Given the description of an element on the screen output the (x, y) to click on. 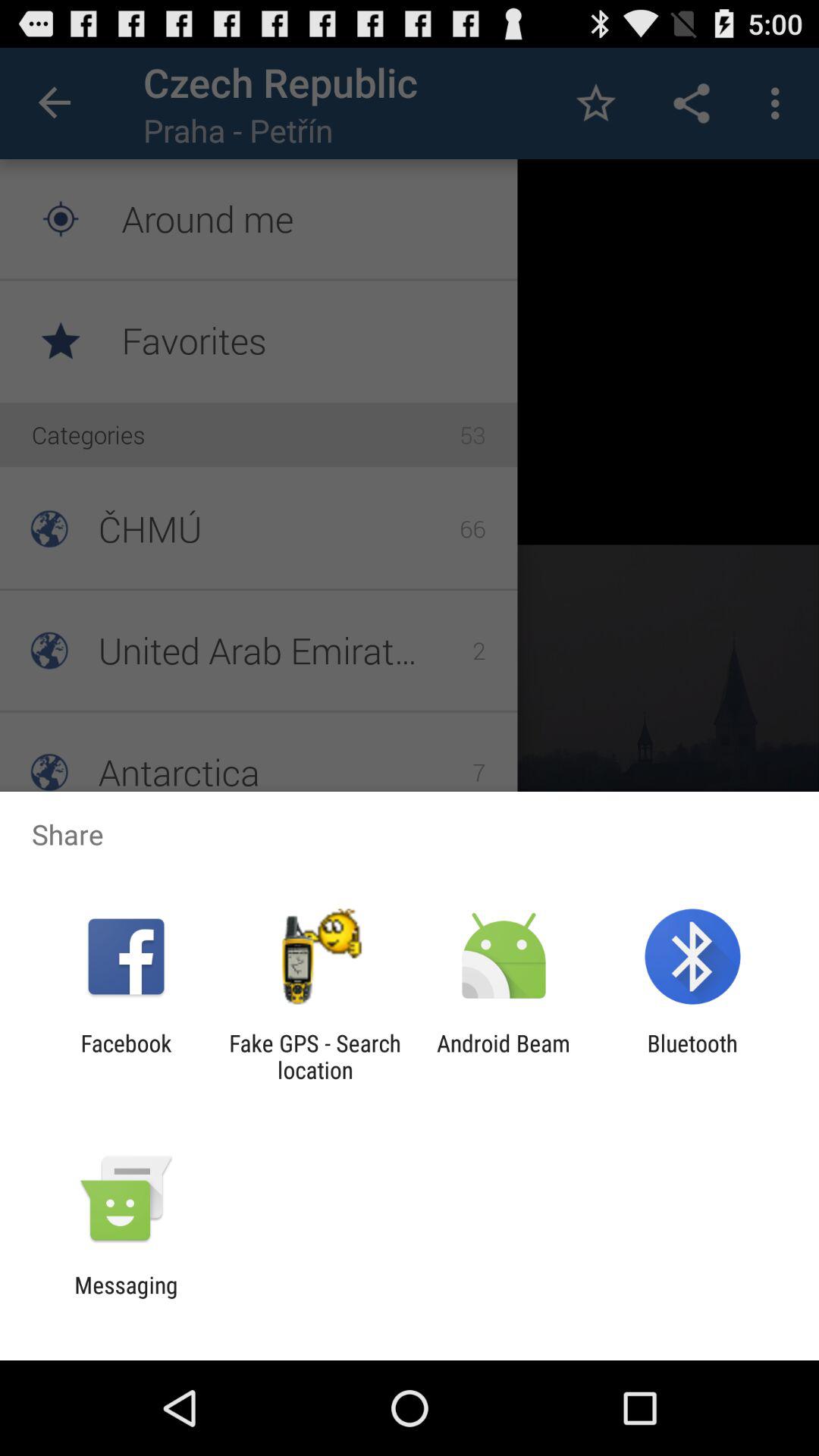
flip until the fake gps search (314, 1056)
